Given the description of an element on the screen output the (x, y) to click on. 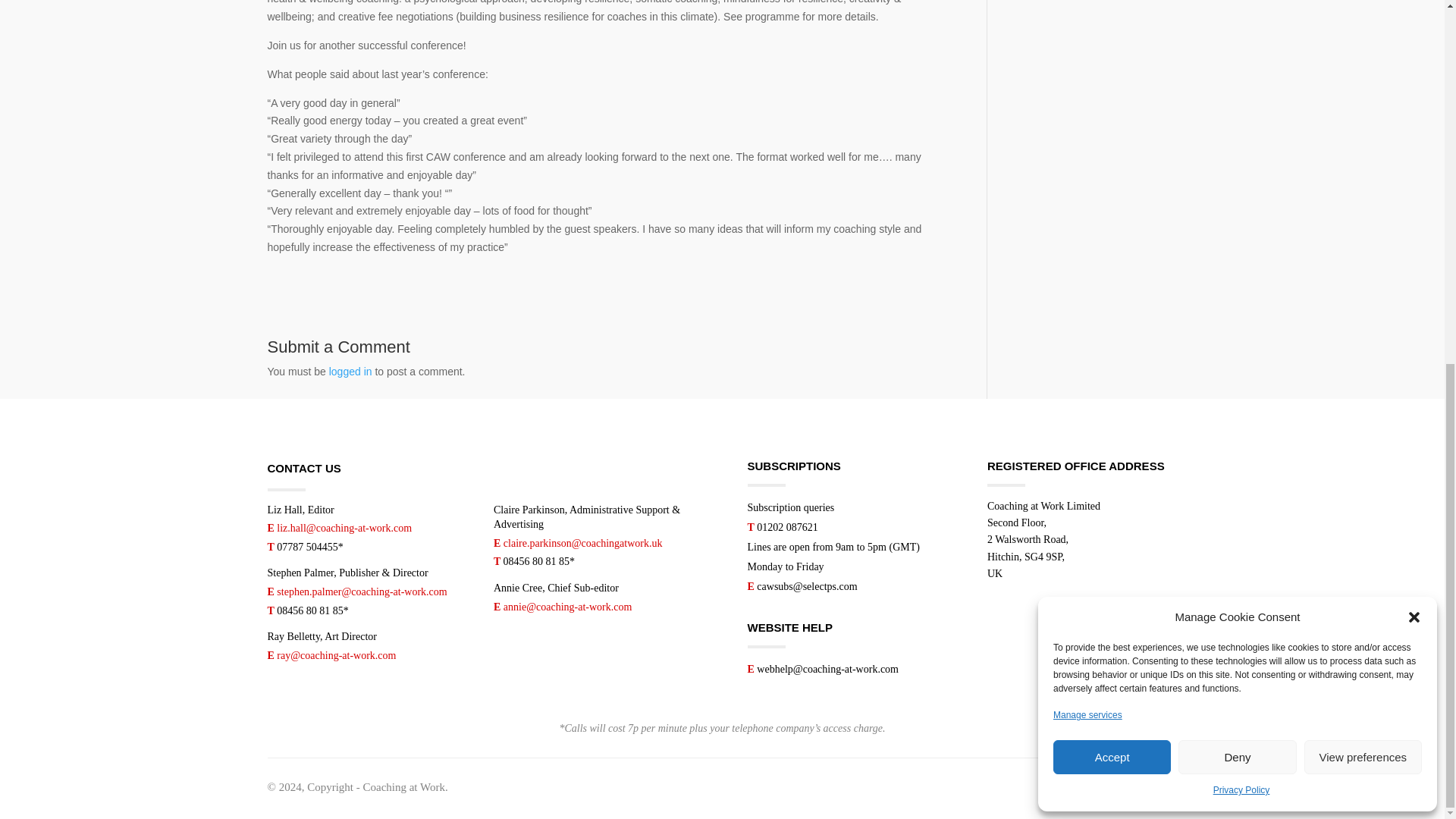
Privacy Policy (1240, 140)
Deny (1236, 107)
View preferences (1363, 107)
Manage services (1087, 65)
Accept (1111, 107)
